Given the description of an element on the screen output the (x, y) to click on. 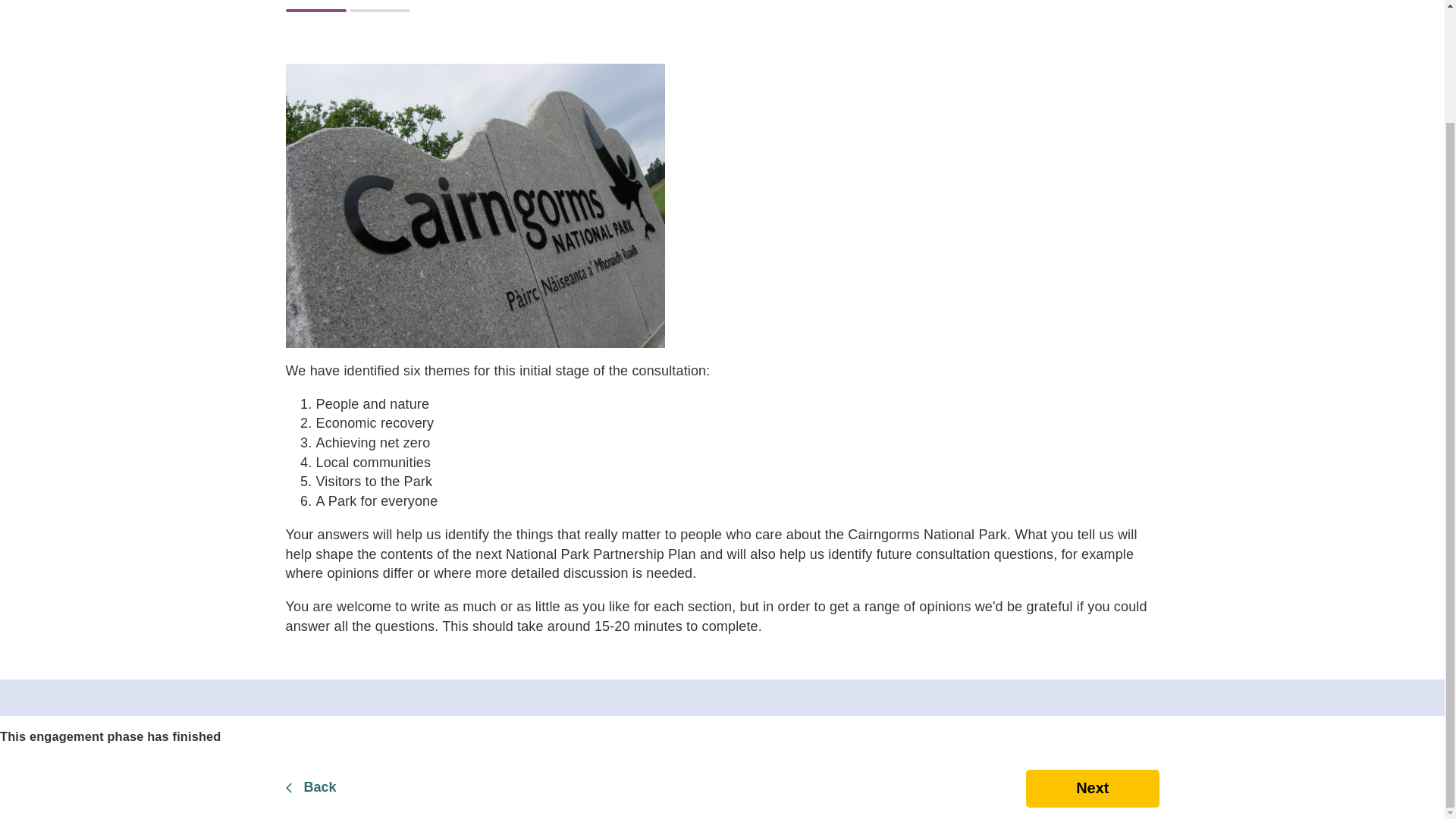
Next (1092, 788)
Back (348, 788)
